Given the description of an element on the screen output the (x, y) to click on. 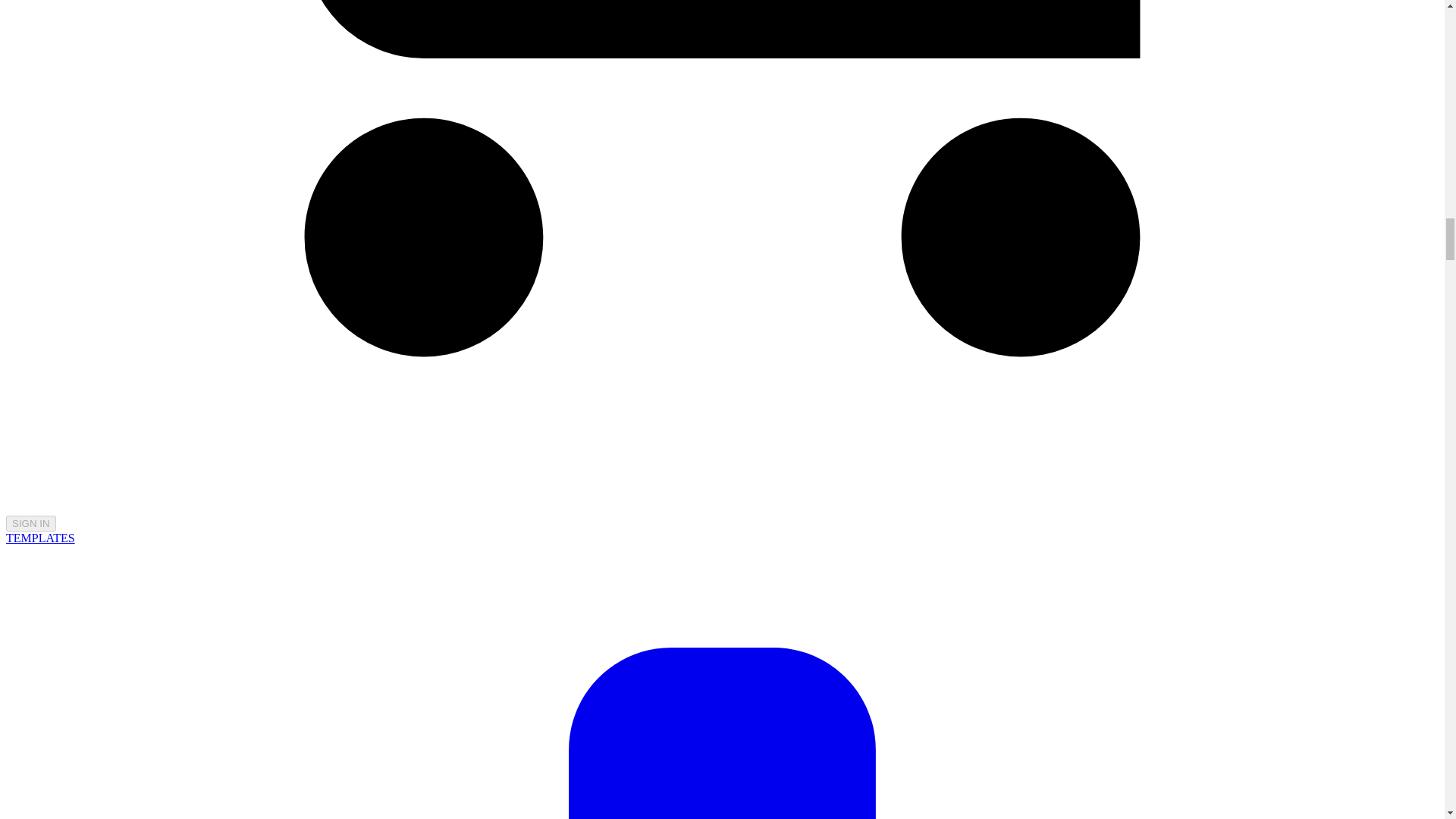
SIGN IN (30, 523)
TEMPLATES (40, 537)
